Given the description of an element on the screen output the (x, y) to click on. 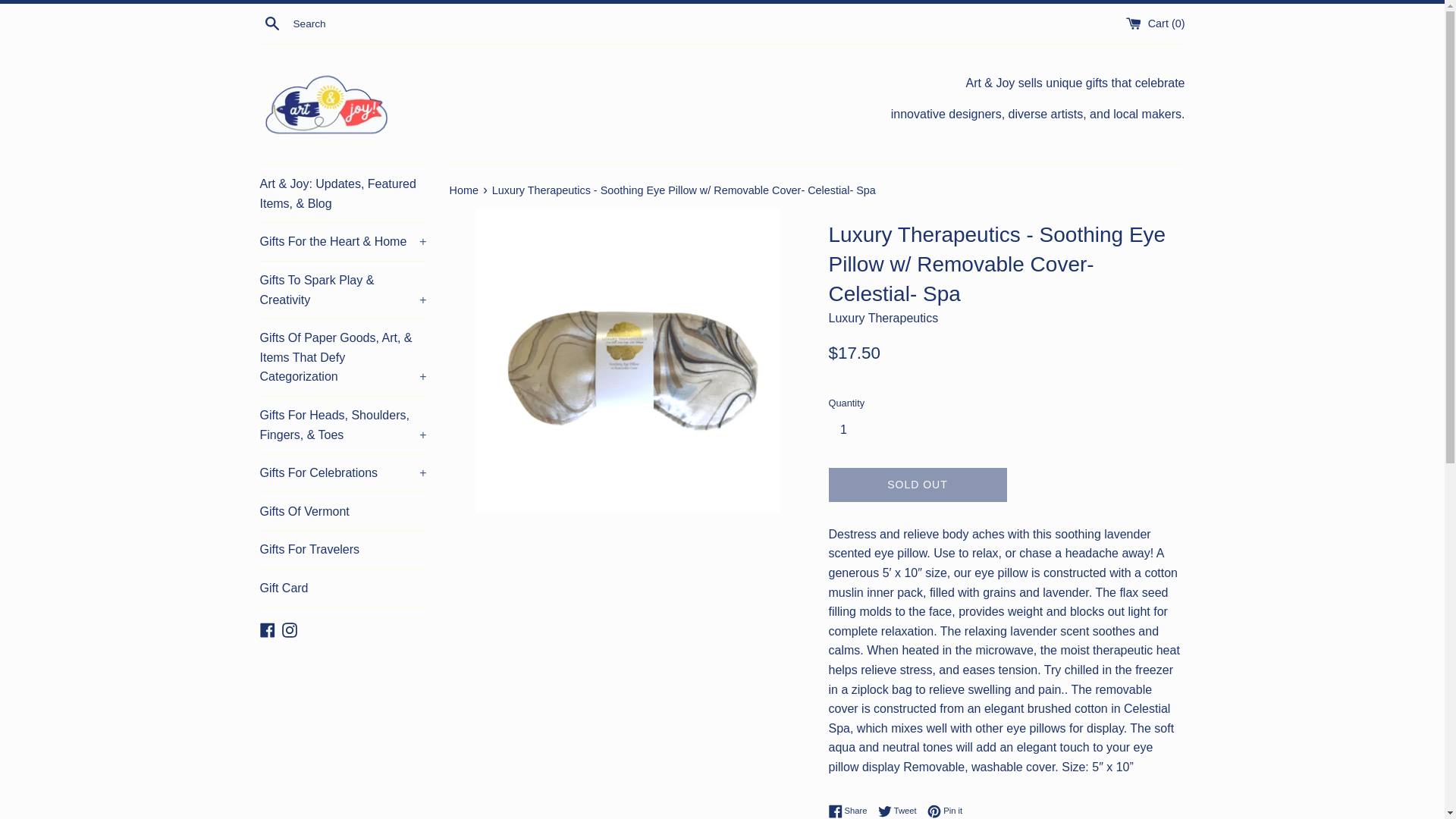
Share on Facebook (851, 811)
1 (848, 429)
Back to the frontpage (464, 190)
Pin on Pinterest (944, 811)
Tweet on Twitter (900, 811)
Search (271, 22)
